Given the description of an element on the screen output the (x, y) to click on. 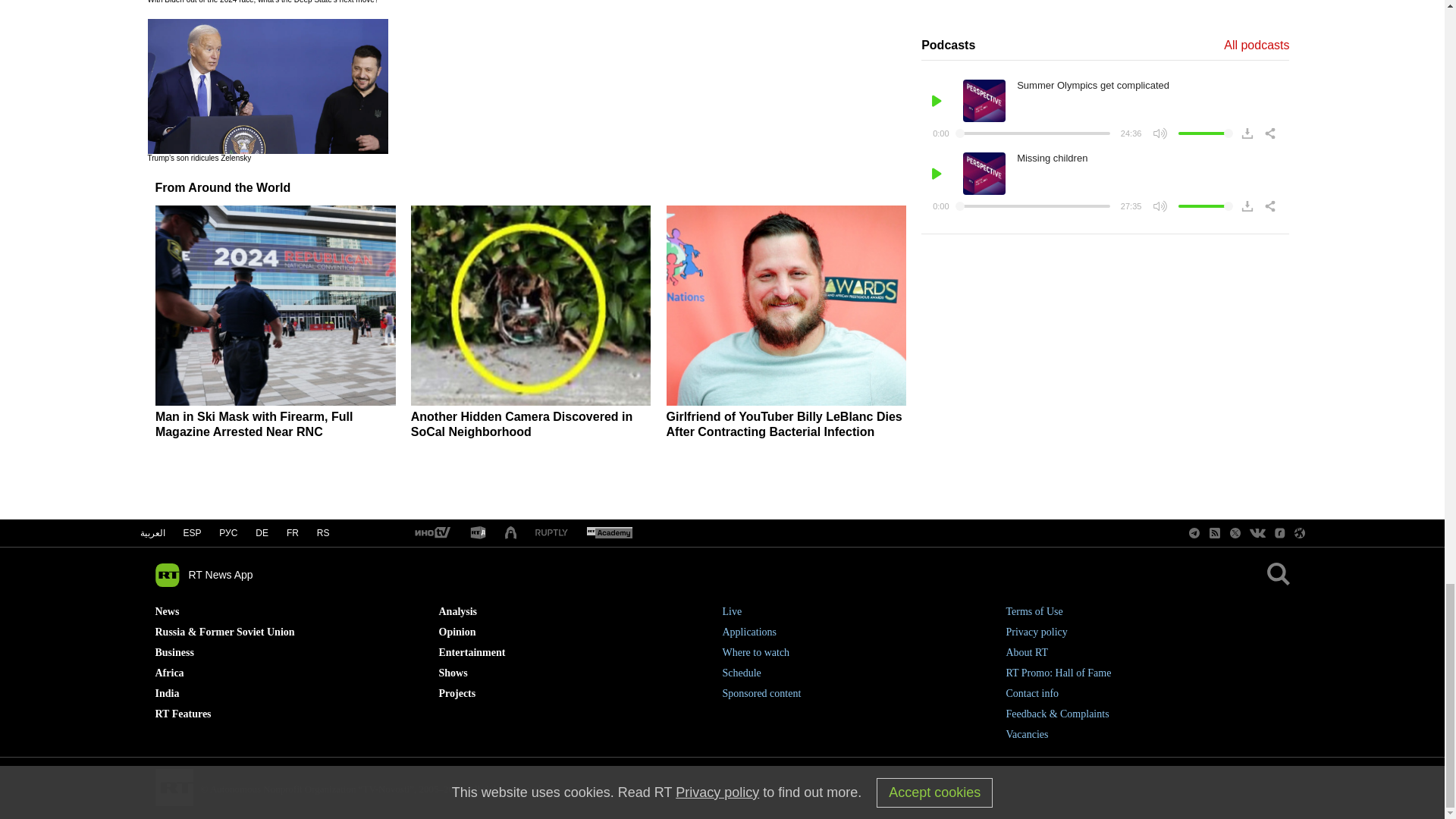
RT  (431, 533)
RT  (608, 533)
RT  (551, 533)
RT  (478, 533)
